Given the description of an element on the screen output the (x, y) to click on. 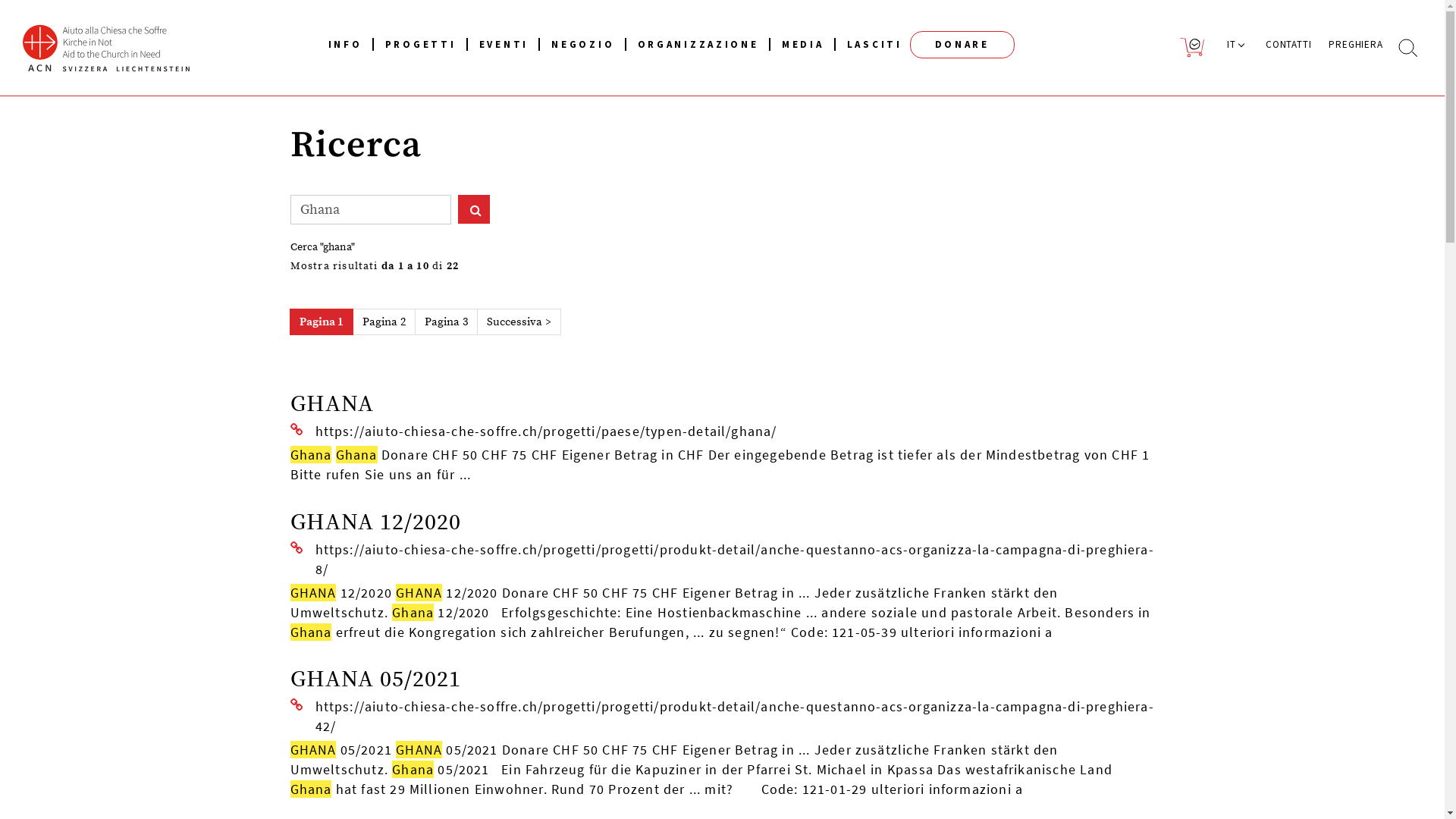
PROGETTI   Element type: text (420, 26)
MEDIA   Element type: text (802, 26)
ORGANIZZAZIONE   Element type: text (698, 26)
Carello Element type: hover (1186, 28)
Pagina 3 Element type: text (445, 321)
IT Element type: text (1235, 26)
Pagina 2 Element type: text (382, 321)
GHANA Element type: text (331, 403)
 PREGHIERA Element type: text (1348, 26)
LASCITI Element type: text (868, 26)
GHANA 12/2020 Element type: text (375, 522)
Successiva > Element type: text (518, 321)
EVENTI   Element type: text (503, 26)
INFO   Element type: text (344, 26)
DONARE Element type: text (962, 44)
Startseite Element type: hover (134, 47)
Pagina 1 Element type: text (321, 321)
GHANA 05/2021 Element type: text (375, 679)
NEGOZIO   Element type: text (582, 26)
 CONTATTI Element type: text (1281, 26)
